Given the description of an element on the screen output the (x, y) to click on. 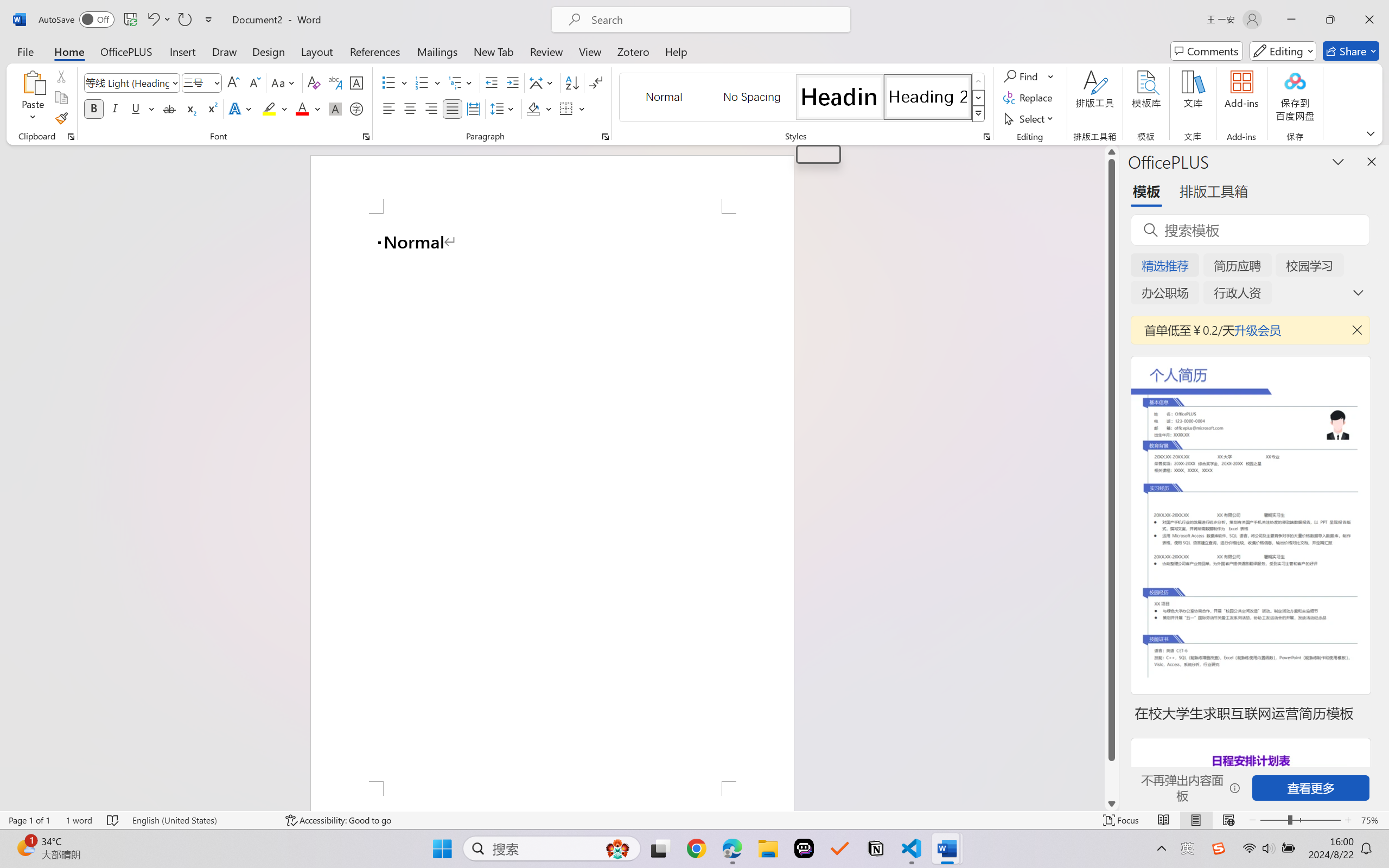
Class: MsoCommandBar (694, 819)
Align Right (431, 108)
Bullets (388, 82)
References (375, 51)
Print Layout (1196, 819)
Page 1 content (551, 497)
Bullets (395, 82)
AutomationID: BadgeAnchorLargeTicker (24, 847)
Show/Hide Editing Marks (595, 82)
Accessibility Checker Accessibility: Good to go (338, 819)
